Given the description of an element on the screen output the (x, y) to click on. 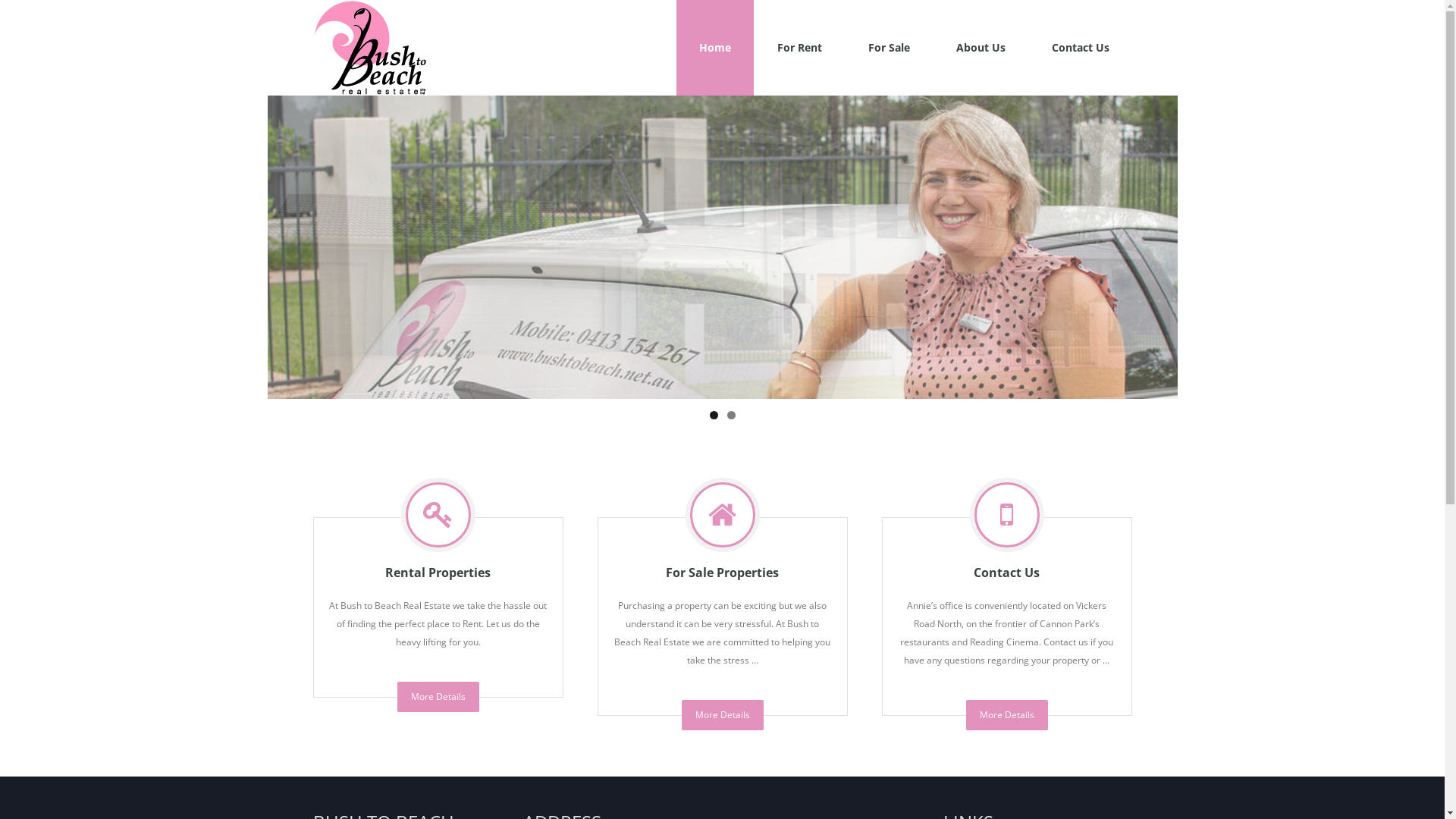
For Rent Element type: text (798, 47)
2 Element type: text (730, 415)
For Sale Element type: text (887, 47)
Contact Us Element type: text (1079, 47)
More Details Element type: text (438, 696)
1 Element type: text (713, 415)
About Us Element type: text (979, 47)
More Details Element type: text (1007, 714)
More Details Element type: text (721, 714)
sdjhfkjs-20 Element type: hover (721, 246)
Home Element type: text (714, 47)
Bush to Beach Real Estate Pty Ltd Element type: hover (369, 47)
